Given the description of an element on the screen output the (x, y) to click on. 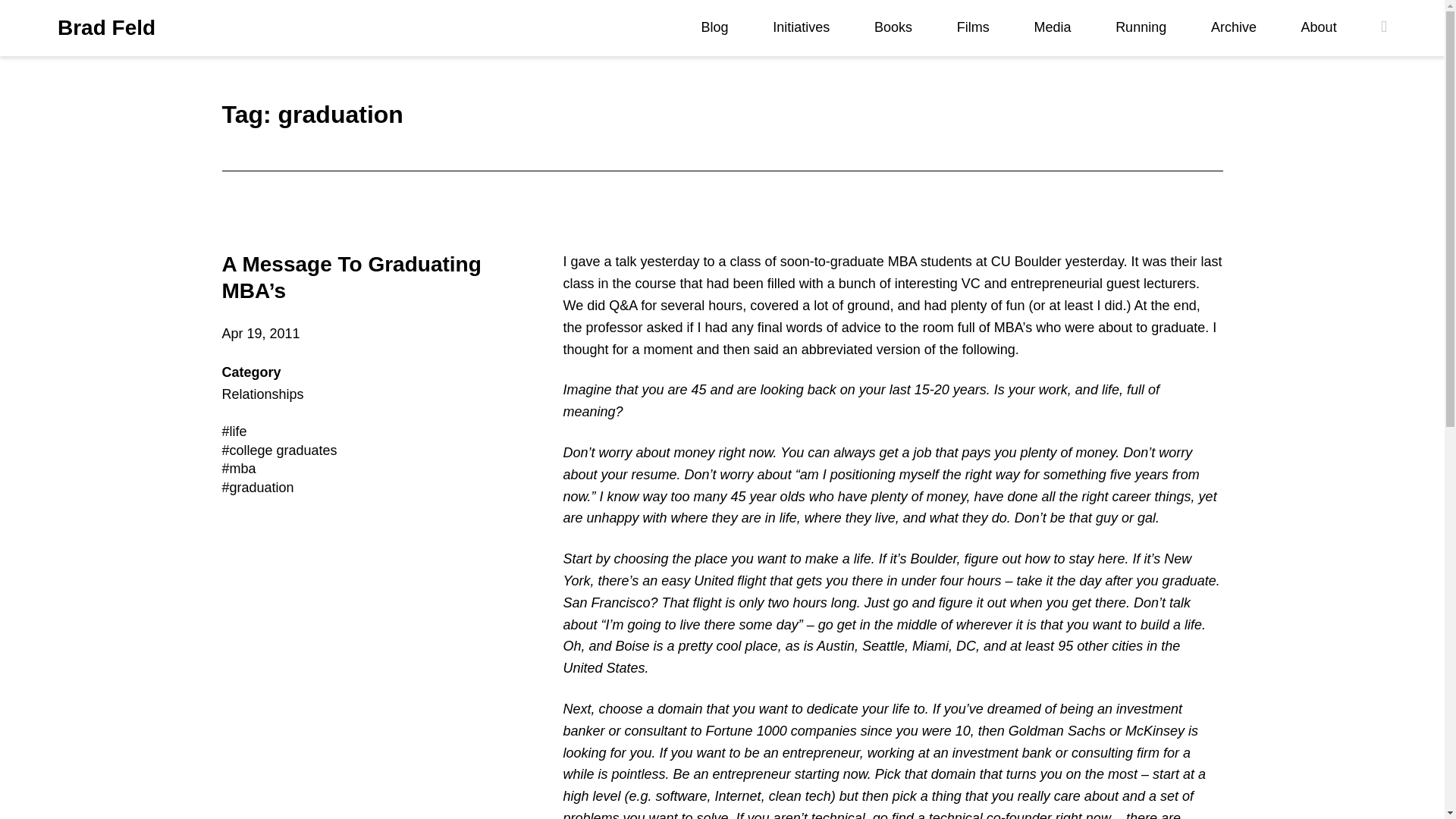
Books (893, 27)
Relationships (261, 394)
About (1318, 27)
Initiatives (801, 27)
Brad Feld (106, 27)
Blog (715, 27)
Films (973, 27)
Running (1140, 27)
Media (1051, 27)
Archive (1233, 27)
